Given the description of an element on the screen output the (x, y) to click on. 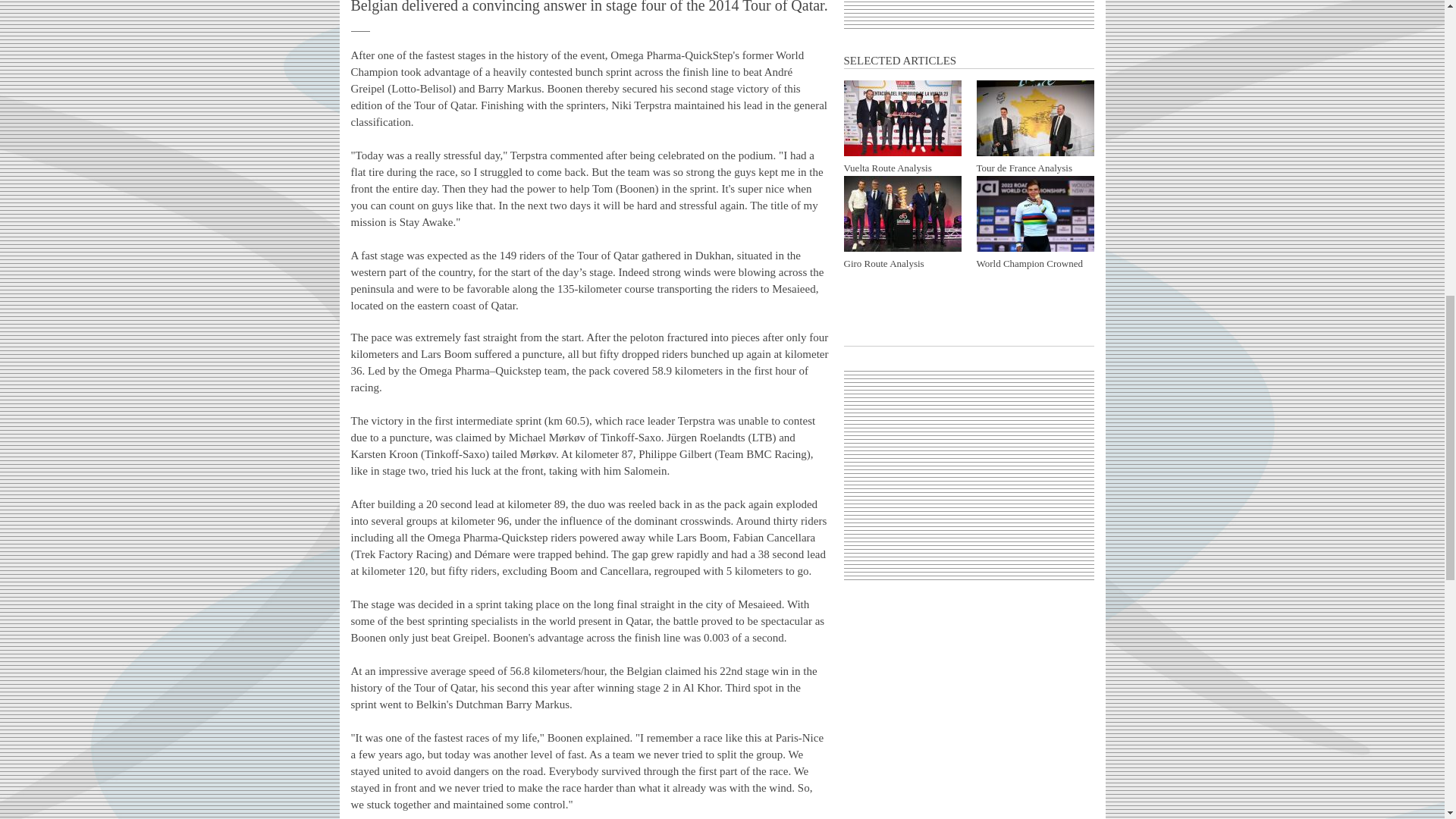
Advertisement (969, 475)
Advertisement (969, 9)
